Given the description of an element on the screen output the (x, y) to click on. 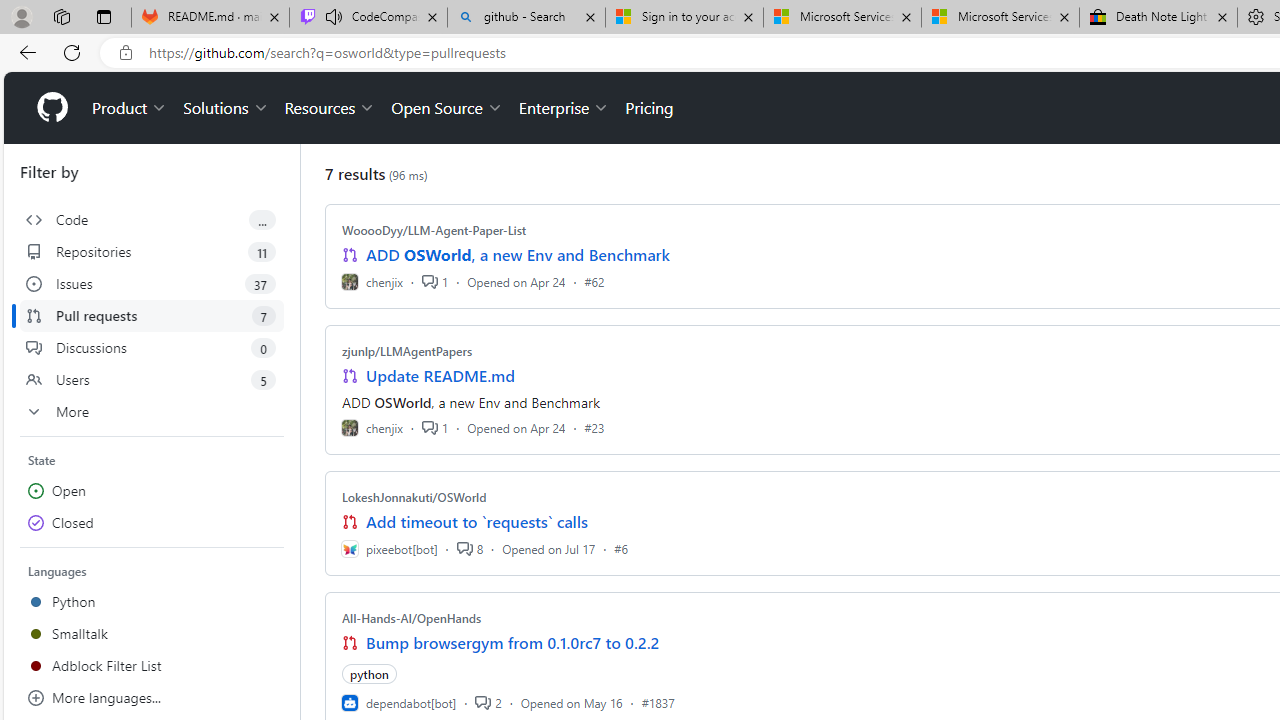
2 (487, 702)
pixeebot[bot] (389, 548)
github - Search (526, 17)
#1837 (657, 702)
Mute tab (333, 16)
#6 (621, 548)
